Given the description of an element on the screen output the (x, y) to click on. 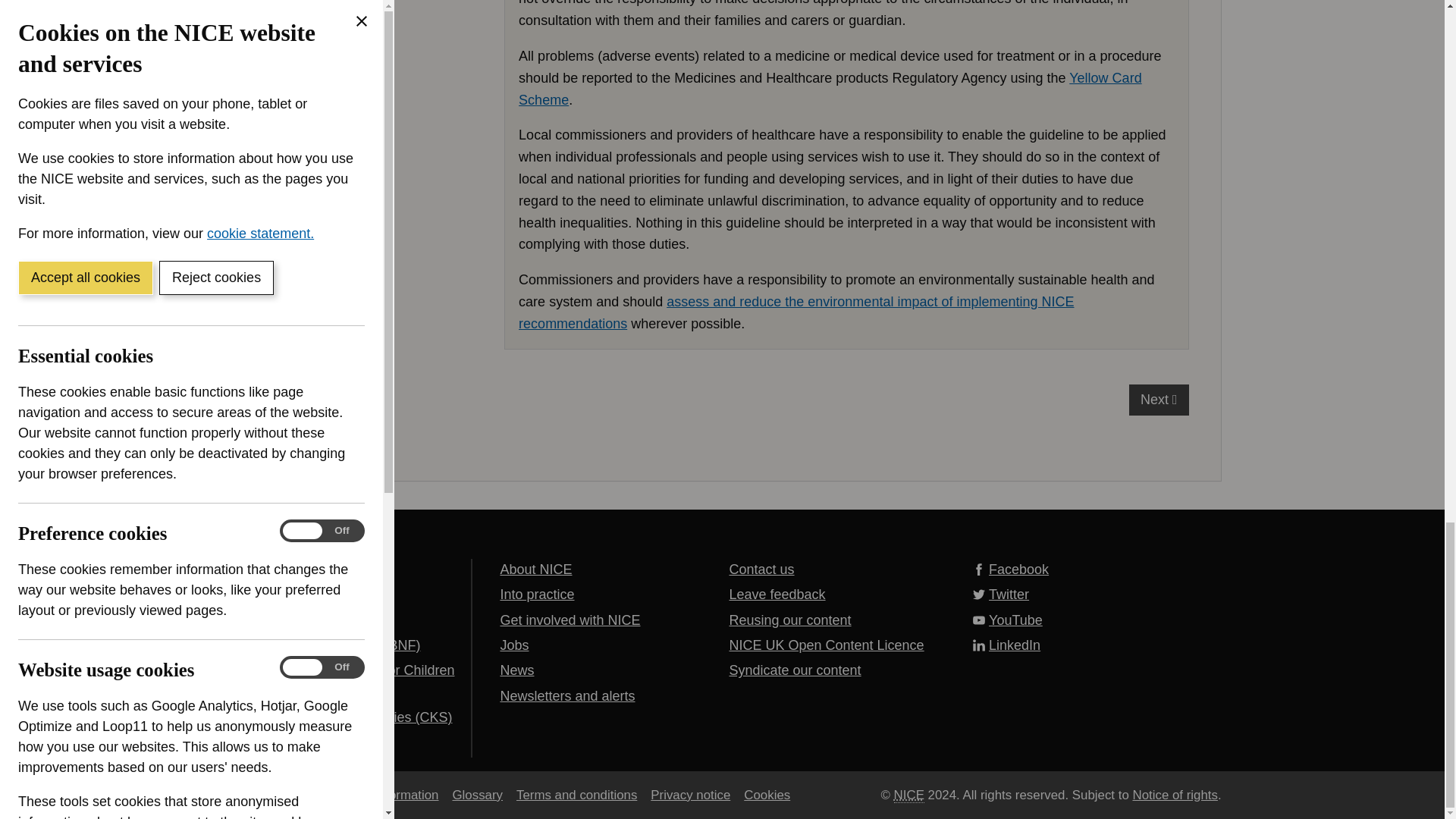
National Institute for Health and Care Excellence (908, 795)
